Given the description of an element on the screen output the (x, y) to click on. 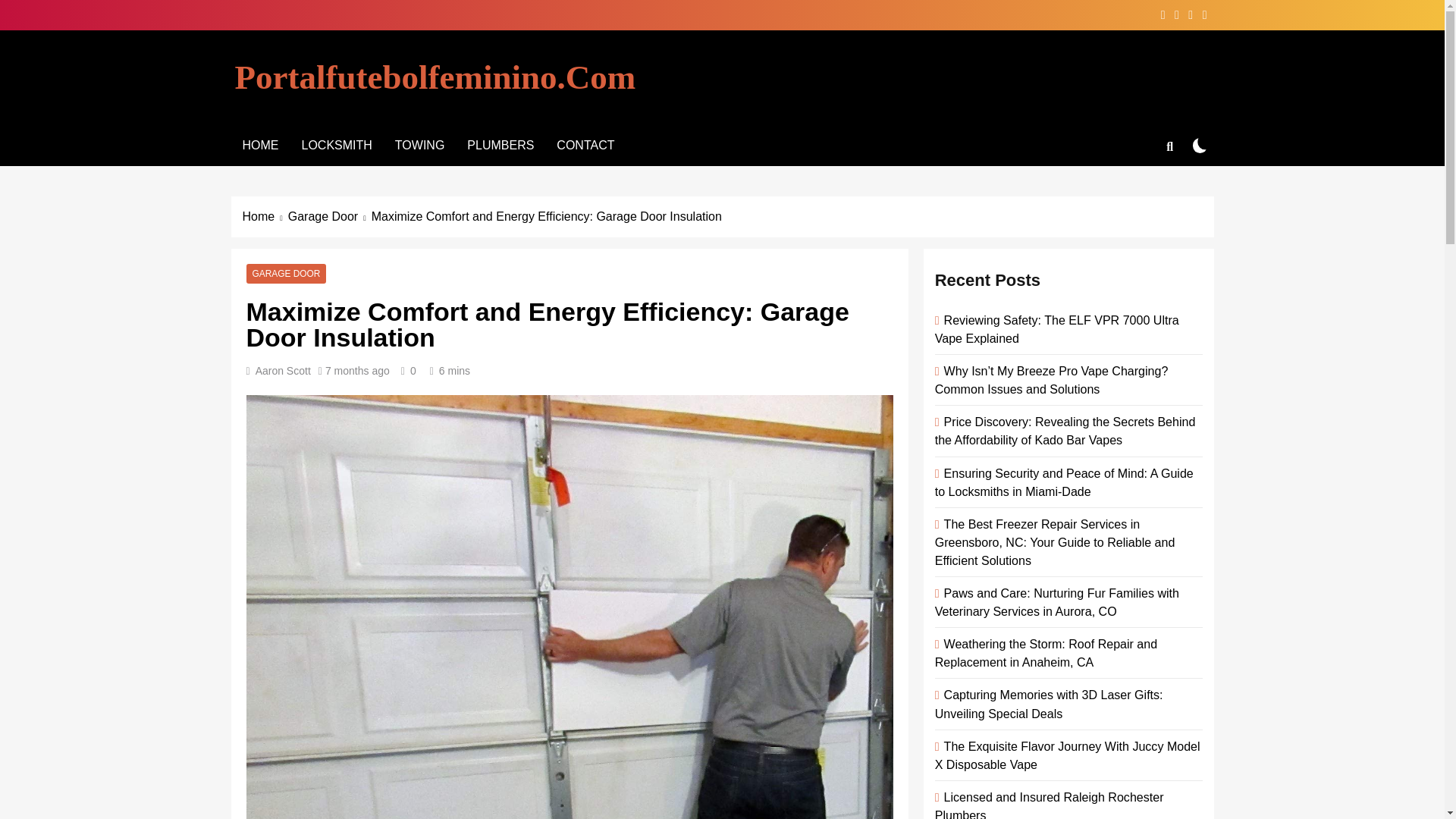
CONTACT (585, 145)
Aaron Scott (283, 370)
LOCKSMITH (335, 145)
HOME (259, 145)
TOWING (419, 145)
PLUMBERS (499, 145)
